Given the description of an element on the screen output the (x, y) to click on. 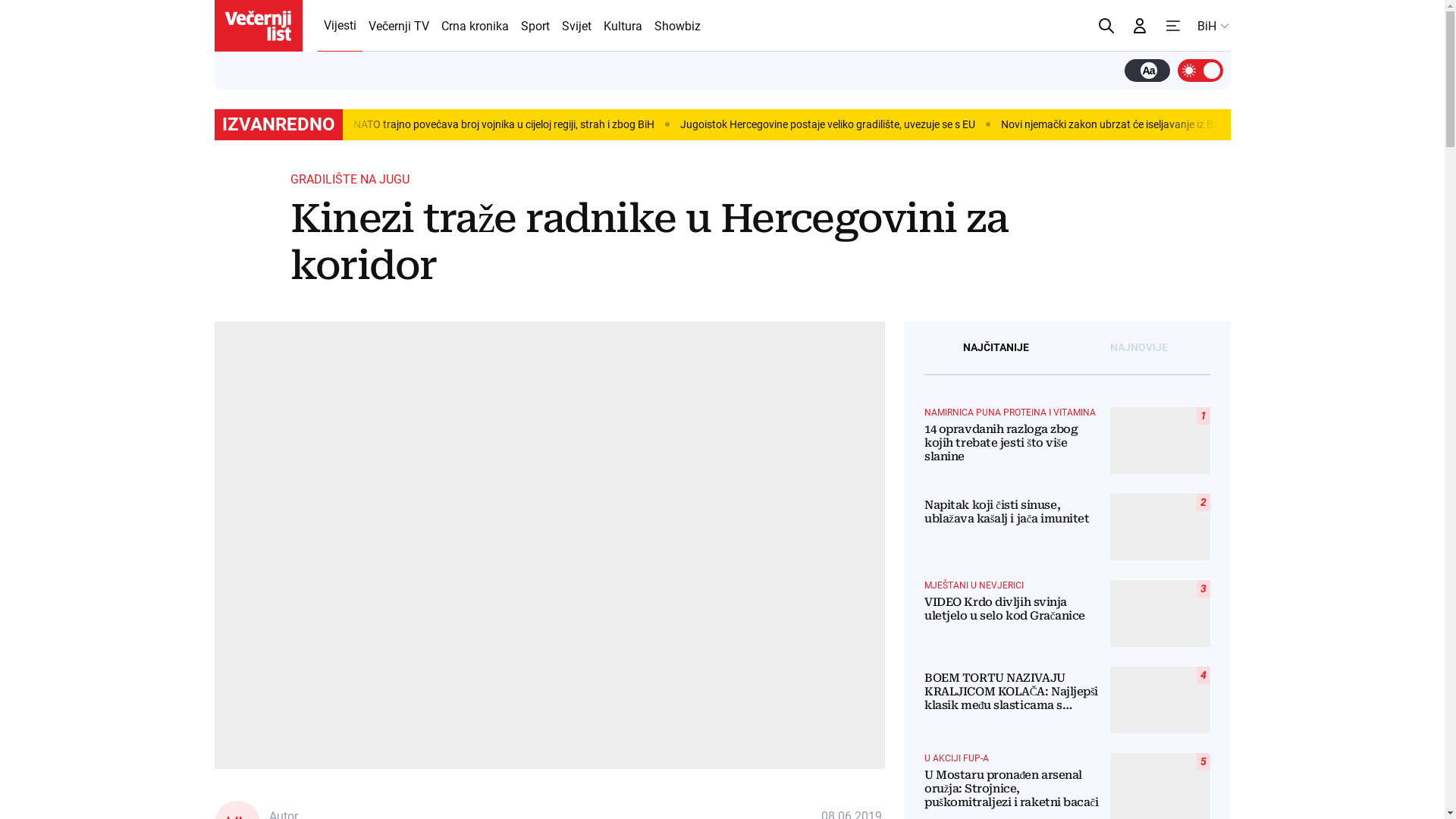
Showbiz Element type: text (676, 25)
NAJNOVIJE Element type: text (1139, 347)
Pretraga Element type: text (1105, 25)
Kultura Element type: text (622, 25)
Crna kronika Element type: text (474, 25)
BiH Element type: text (1213, 25)
Sport Element type: text (534, 25)
www.vecernji.ba Element type: text (257, 25)
Vijesti Element type: text (338, 25)
Promjena prikaza teme Element type: text (1199, 70)
Svijet Element type: text (575, 25)
Navigacija Element type: text (1172, 25)
